Given the description of an element on the screen output the (x, y) to click on. 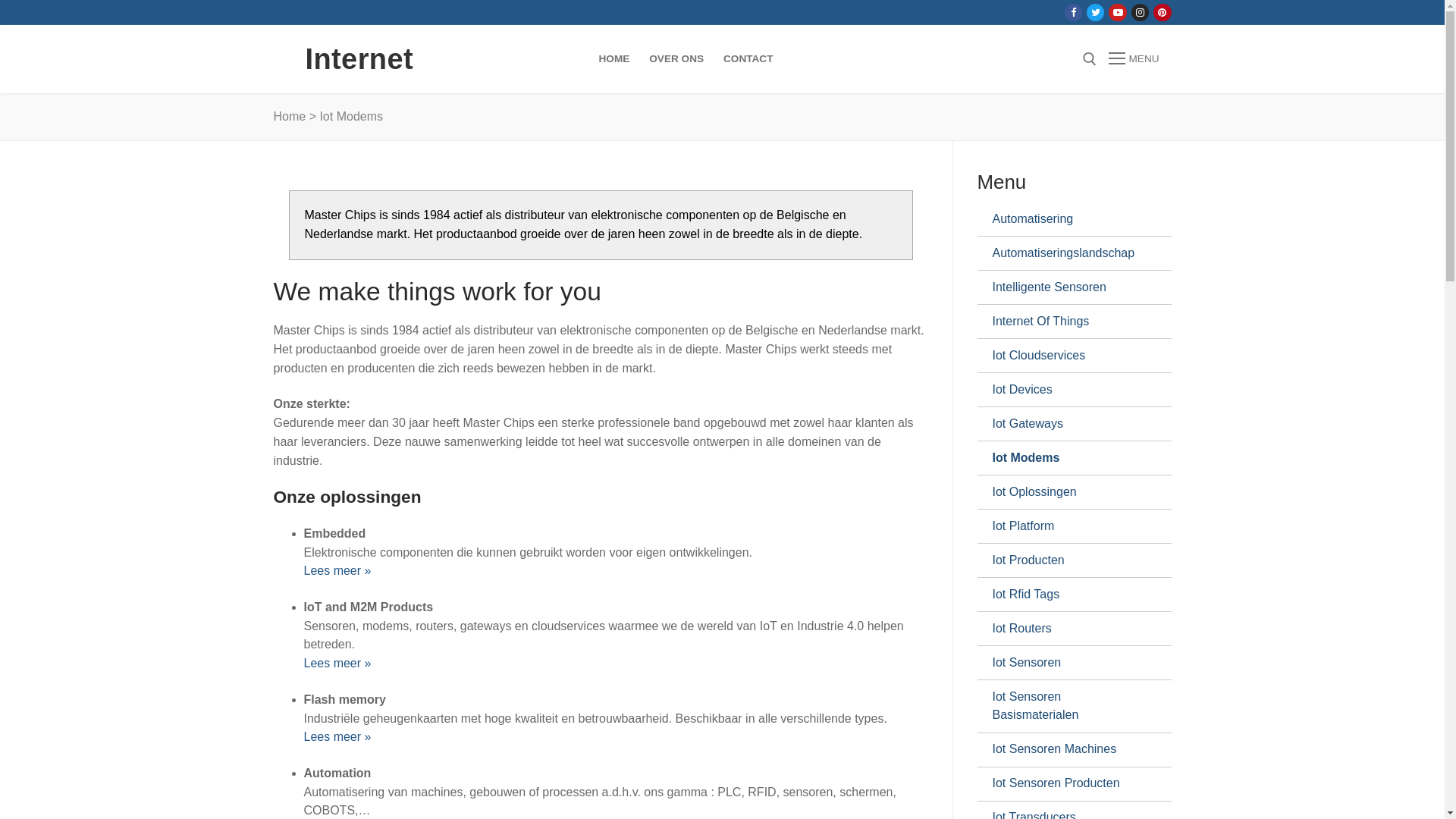
Spring naar de inhoud Element type: text (0, 0)
Iot Oplossingen Element type: text (1067, 491)
HOME Element type: text (613, 58)
Iot Rfid Tags Element type: text (1067, 594)
Iot Producten Element type: text (1067, 560)
Instagram Element type: hover (1140, 12)
OVER ONS Element type: text (676, 58)
Iot Sensoren Element type: text (1067, 662)
Iot Devices Element type: text (1067, 389)
Automatisering Element type: text (1067, 218)
Iot Sensoren Basismaterialen Element type: text (1067, 706)
Iot Platform Element type: text (1067, 525)
Facebook Element type: hover (1073, 12)
Iot Routers Element type: text (1067, 628)
Internet Element type: text (358, 58)
Automatiseringslandschap Element type: text (1067, 252)
Pinterest Element type: hover (1162, 12)
Youtube Element type: hover (1118, 12)
Twitter Element type: hover (1095, 12)
Intelligente Sensoren Element type: text (1067, 287)
CONTACT Element type: text (747, 58)
MENU Element type: text (1133, 59)
Iot Modems Element type: text (1067, 457)
Internet Of Things Element type: text (1067, 321)
Iot Sensoren Machines Element type: text (1067, 749)
Iot Sensoren Producten Element type: text (1067, 783)
Iot Cloudservices Element type: text (1067, 355)
Iot Gateways Element type: text (1067, 423)
